Given the description of an element on the screen output the (x, y) to click on. 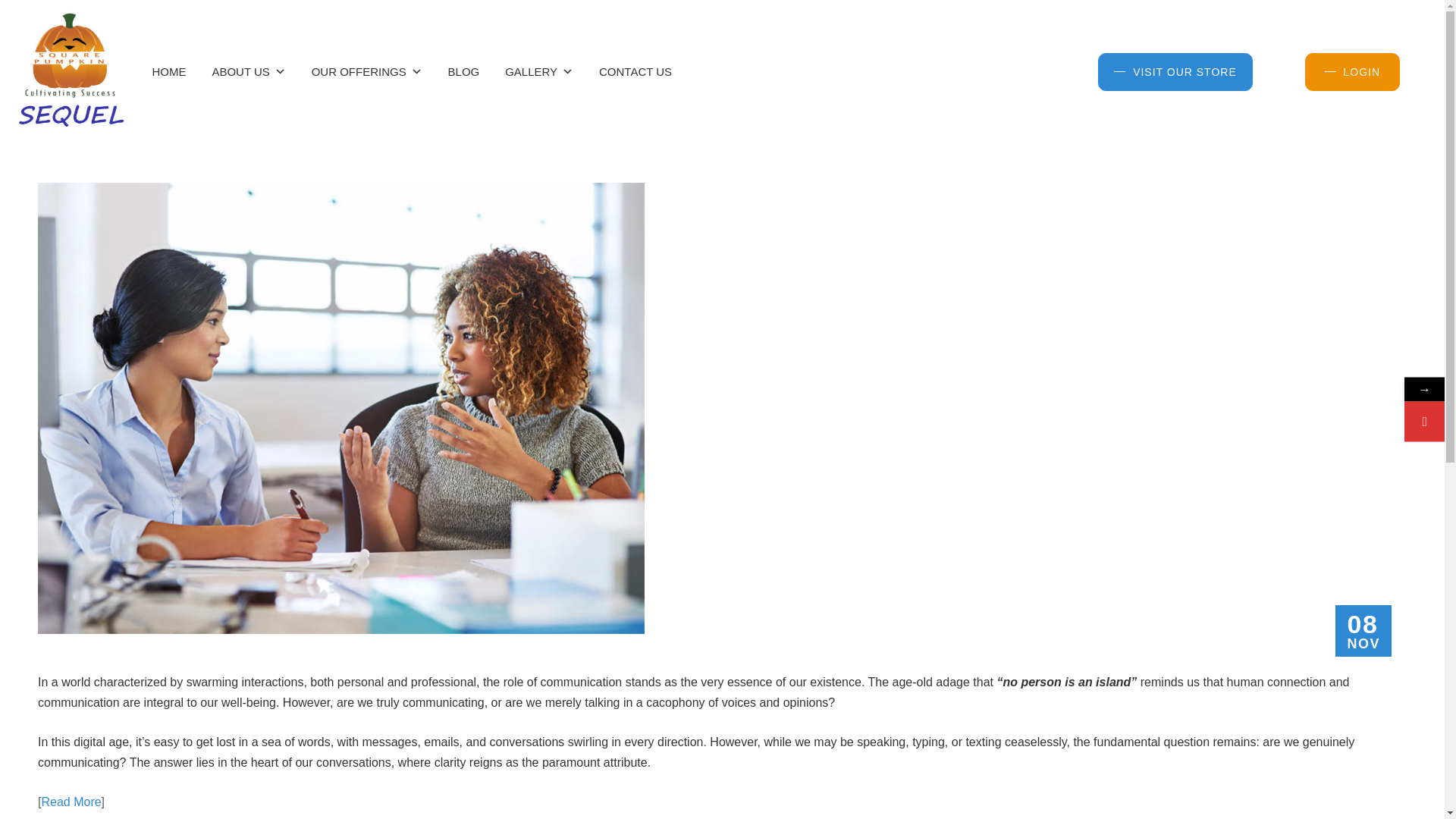
VISIT OUR STORE (1174, 71)
LOGIN (1352, 71)
BLOG (464, 71)
GALLERY (538, 71)
ABOUT US (247, 71)
OUR OFFERINGS (366, 71)
HOME (168, 71)
CONTACT US (635, 71)
